Given the description of an element on the screen output the (x, y) to click on. 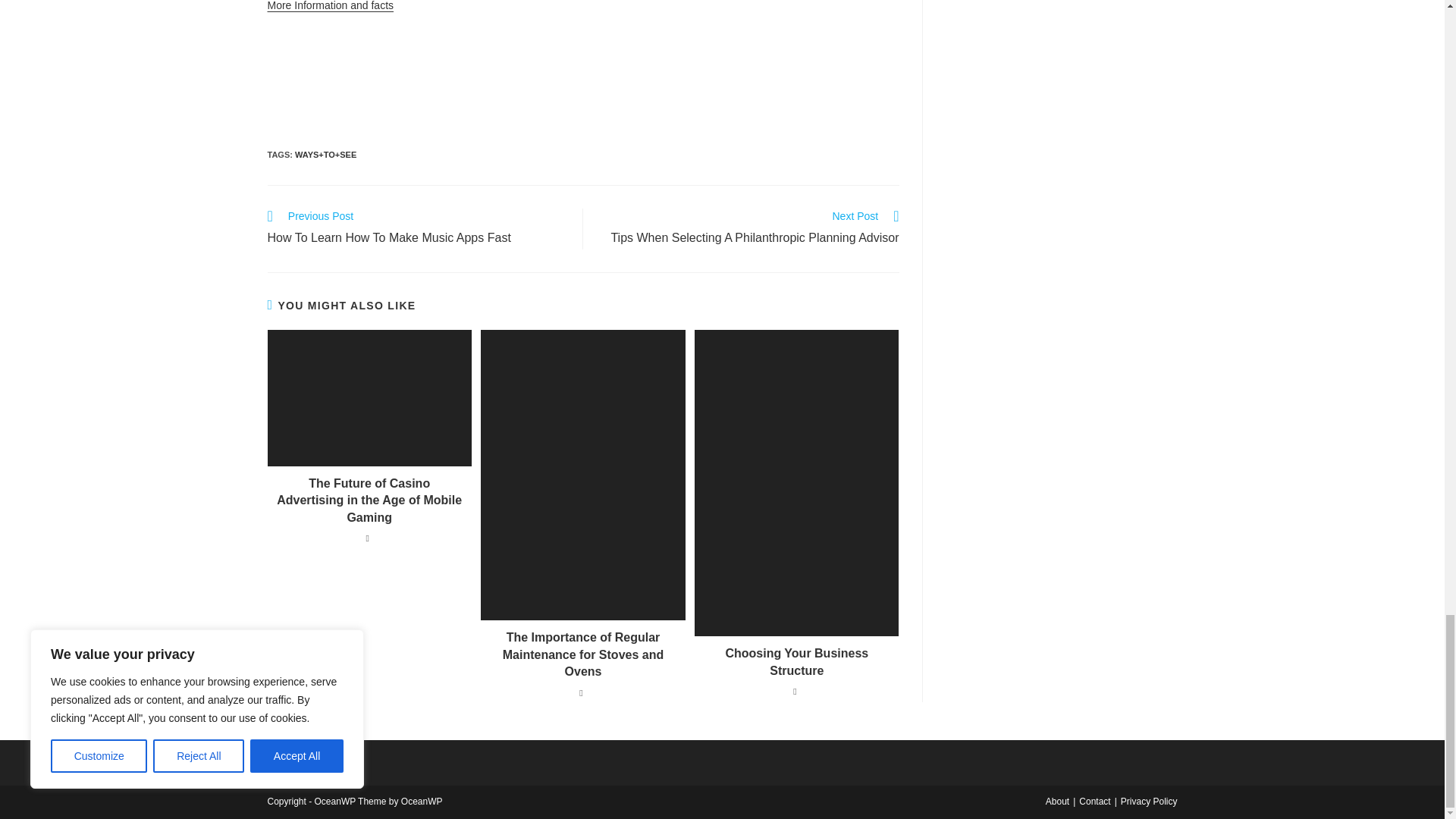
More Information and facts (416, 228)
